Given the description of an element on the screen output the (x, y) to click on. 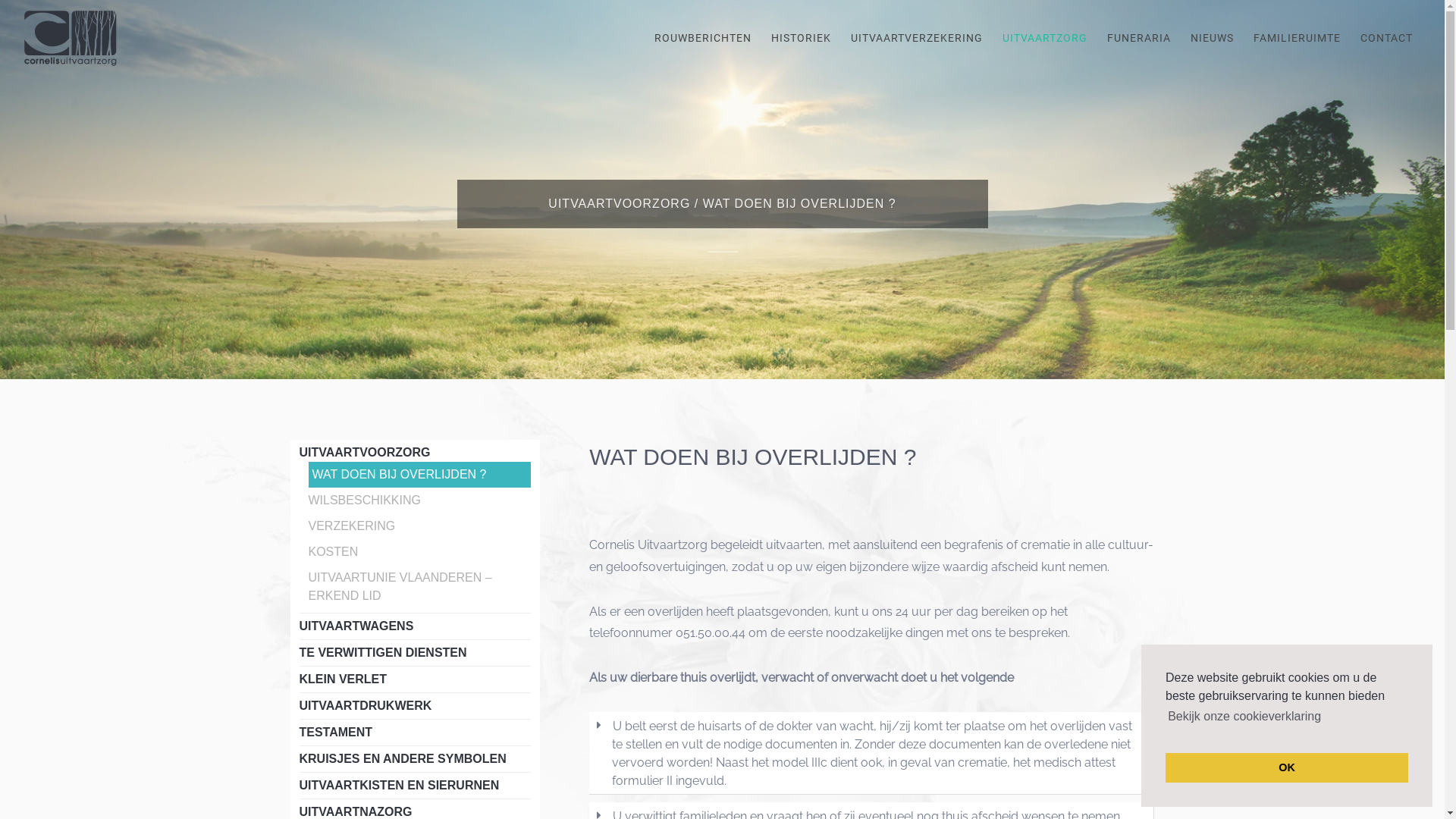
UITVAARTNAZORG Element type: text (354, 811)
KLEIN VERLET Element type: text (342, 678)
WILSBESCHIKKING Element type: text (363, 499)
UITVAARTZORG Element type: text (1044, 37)
TE VERWITTIGEN DIENSTEN Element type: text (382, 652)
UITVAARTDRUKWERK Element type: text (364, 705)
ROUWBERICHTEN Element type: text (702, 37)
Bekijk onze cookieverklaring Element type: text (1244, 716)
FUNERARIA Element type: text (1138, 37)
UITVAARTVOORZORG Element type: text (363, 451)
WAT DOEN BIJ OVERLIJDEN ? Element type: text (396, 473)
TESTAMENT Element type: text (335, 731)
CONTACT Element type: text (1386, 37)
KOSTEN Element type: text (332, 551)
NIEUWS Element type: text (1211, 37)
UITVAARTVERZEKERING Element type: text (916, 37)
VERZEKERING Element type: text (351, 525)
FAMILIERUIMTE Element type: text (1296, 37)
UITVAARTWAGENS Element type: text (355, 625)
OK Element type: text (1286, 767)
HISTORIEK Element type: text (801, 37)
UITVAARTKISTEN EN SIERURNEN Element type: text (398, 784)
homepage Cornelis Uitvaartzorg Element type: hover (70, 37)
KRUISJES EN ANDERE SYMBOLEN Element type: text (401, 758)
